Given the description of an element on the screen output the (x, y) to click on. 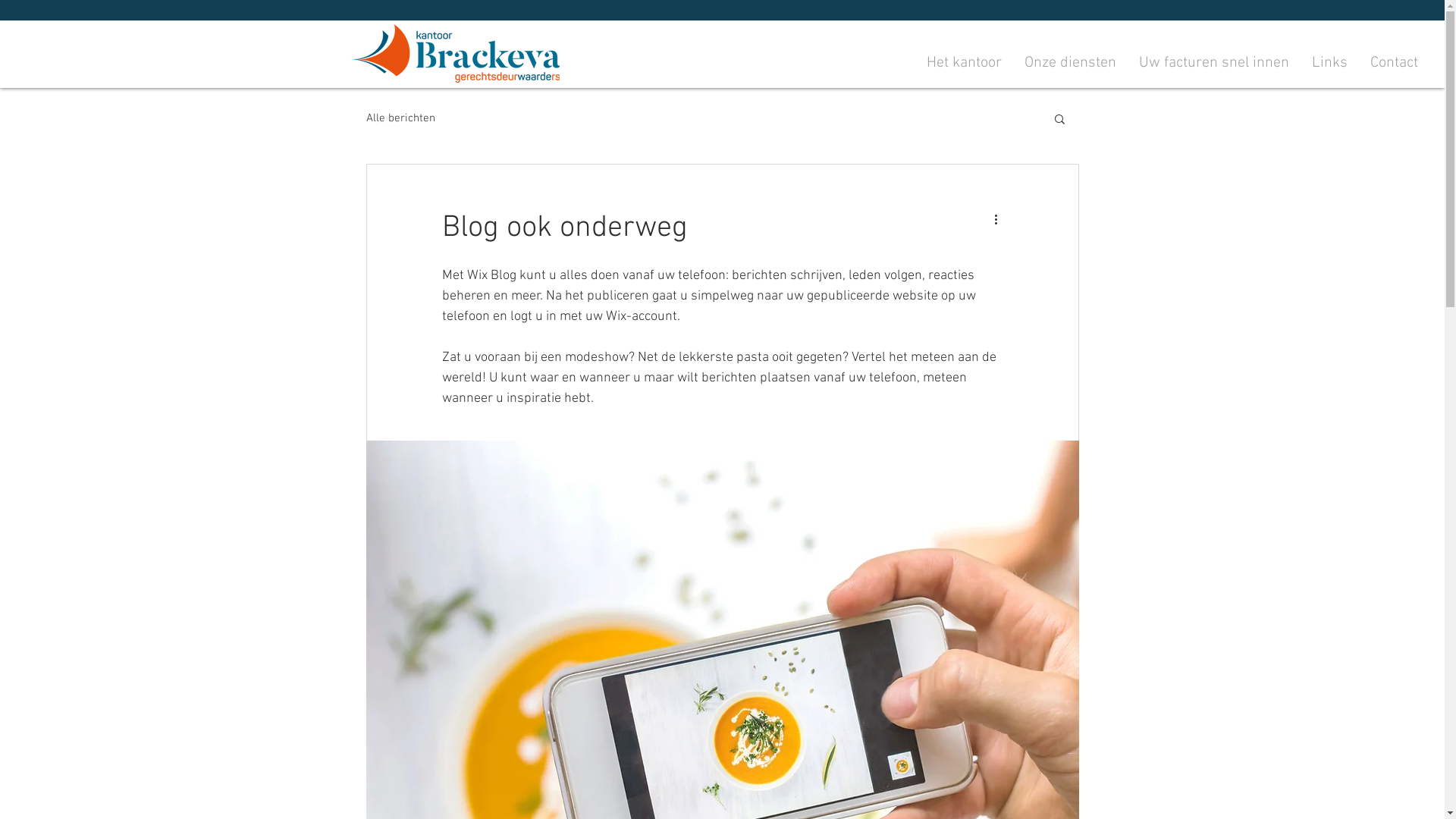
Alle berichten Element type: text (399, 118)
Onze diensten Element type: text (1070, 63)
Links Element type: text (1329, 63)
Contact Element type: text (1393, 63)
Uw facturen snel innen Element type: text (1213, 63)
Het kantoor Element type: text (964, 63)
